Given the description of an element on the screen output the (x, y) to click on. 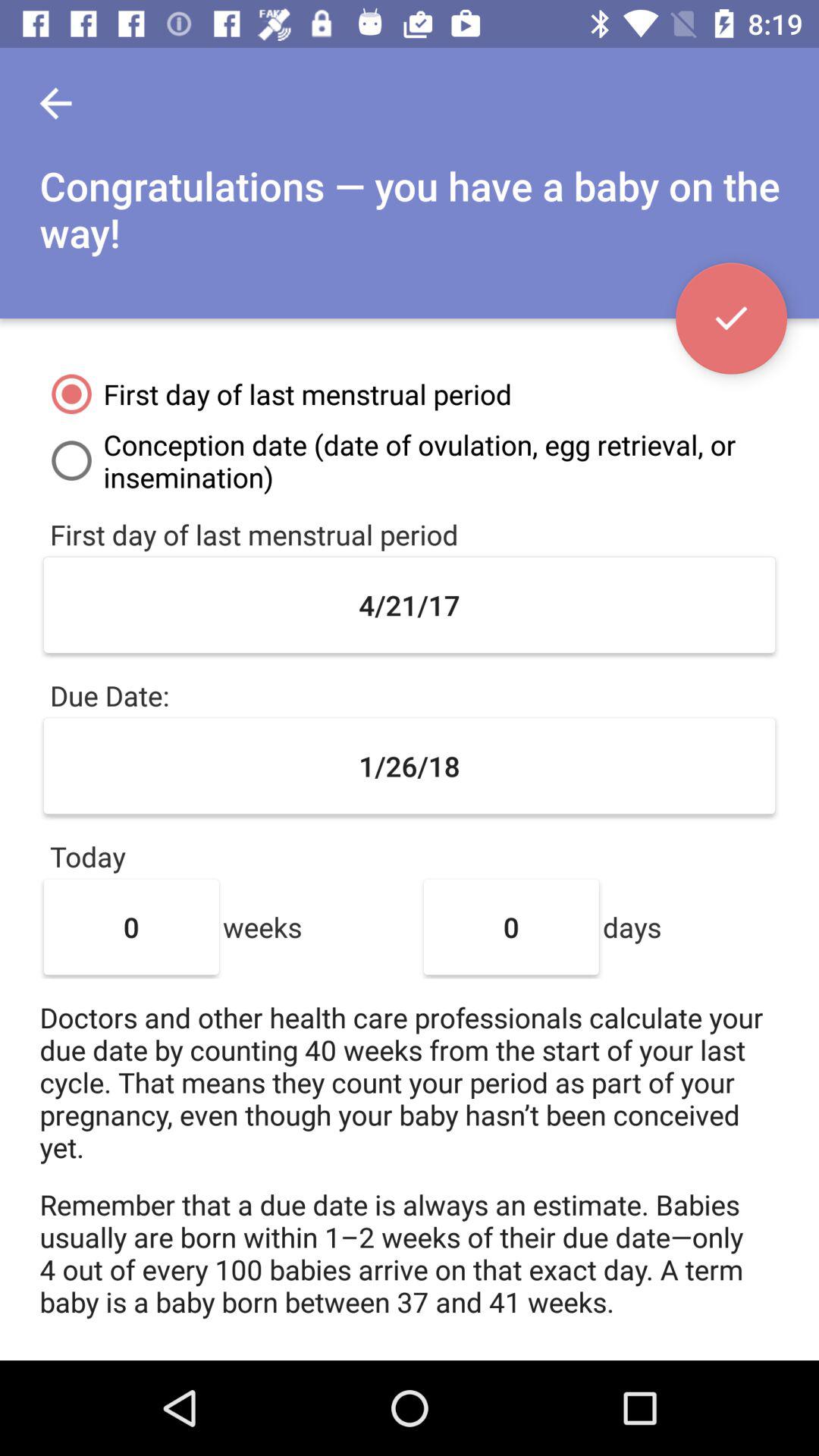
turn off icon at the top right corner (731, 318)
